Given the description of an element on the screen output the (x, y) to click on. 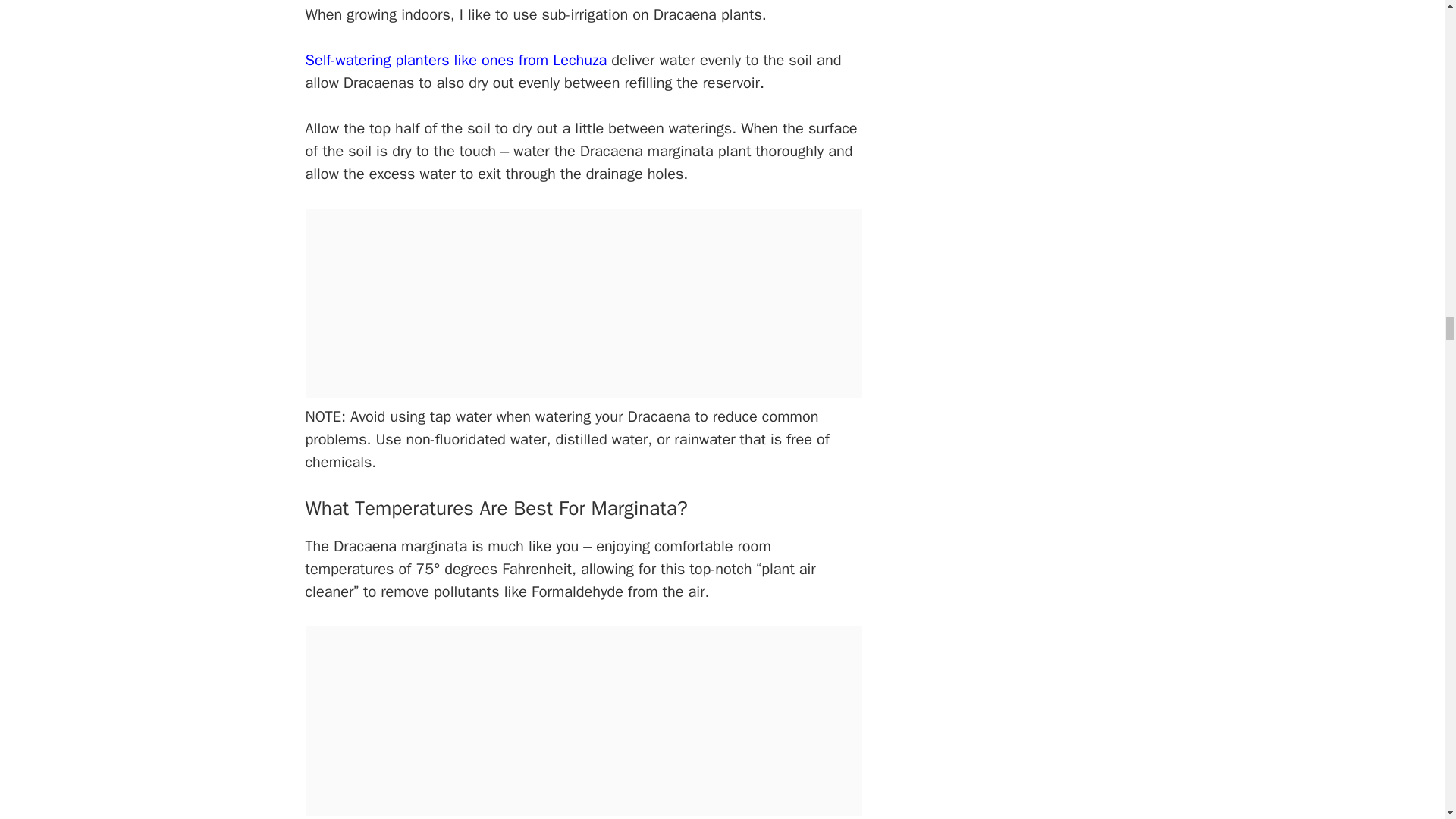
Self-watering planters like ones from Lechuza (455, 59)
